Given the description of an element on the screen output the (x, y) to click on. 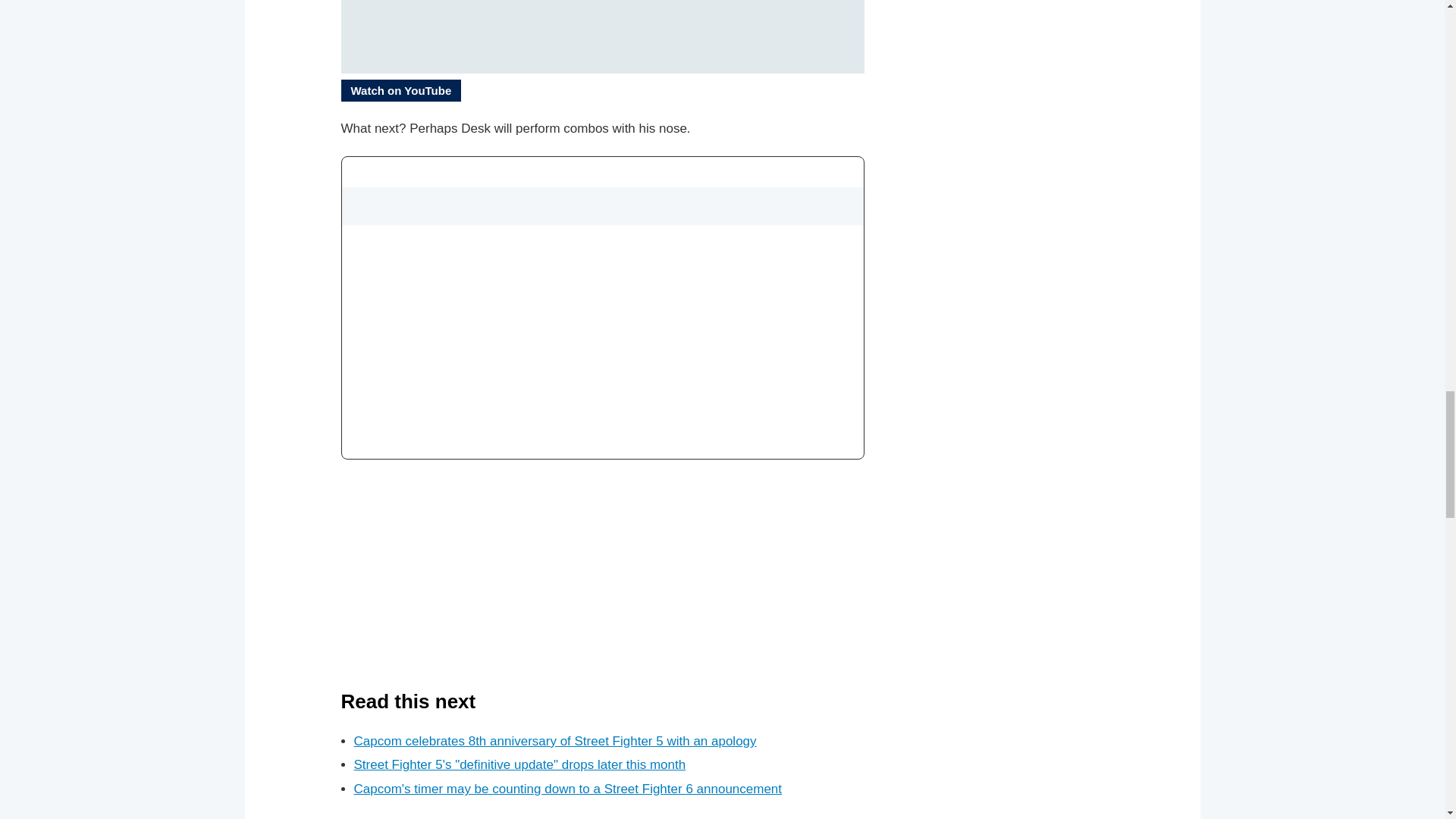
Watch on YouTube (400, 90)
